Given the description of an element on the screen output the (x, y) to click on. 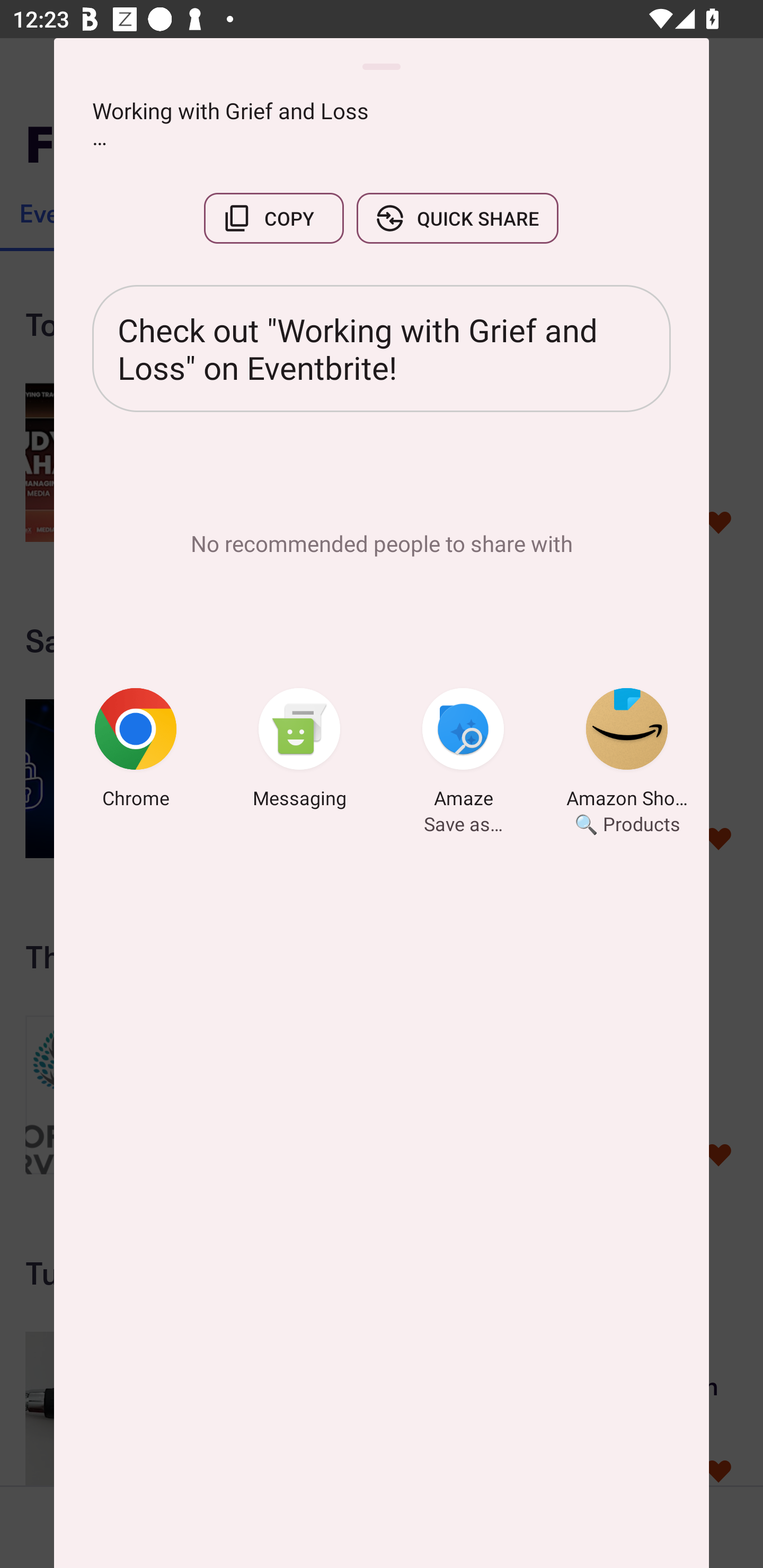
COPY (273, 218)
QUICK SHARE (457, 218)
Chrome (135, 751)
Messaging (299, 751)
Amaze Save as… (463, 751)
Amazon Shopping 🔍 Products (626, 751)
